Given the description of an element on the screen output the (x, y) to click on. 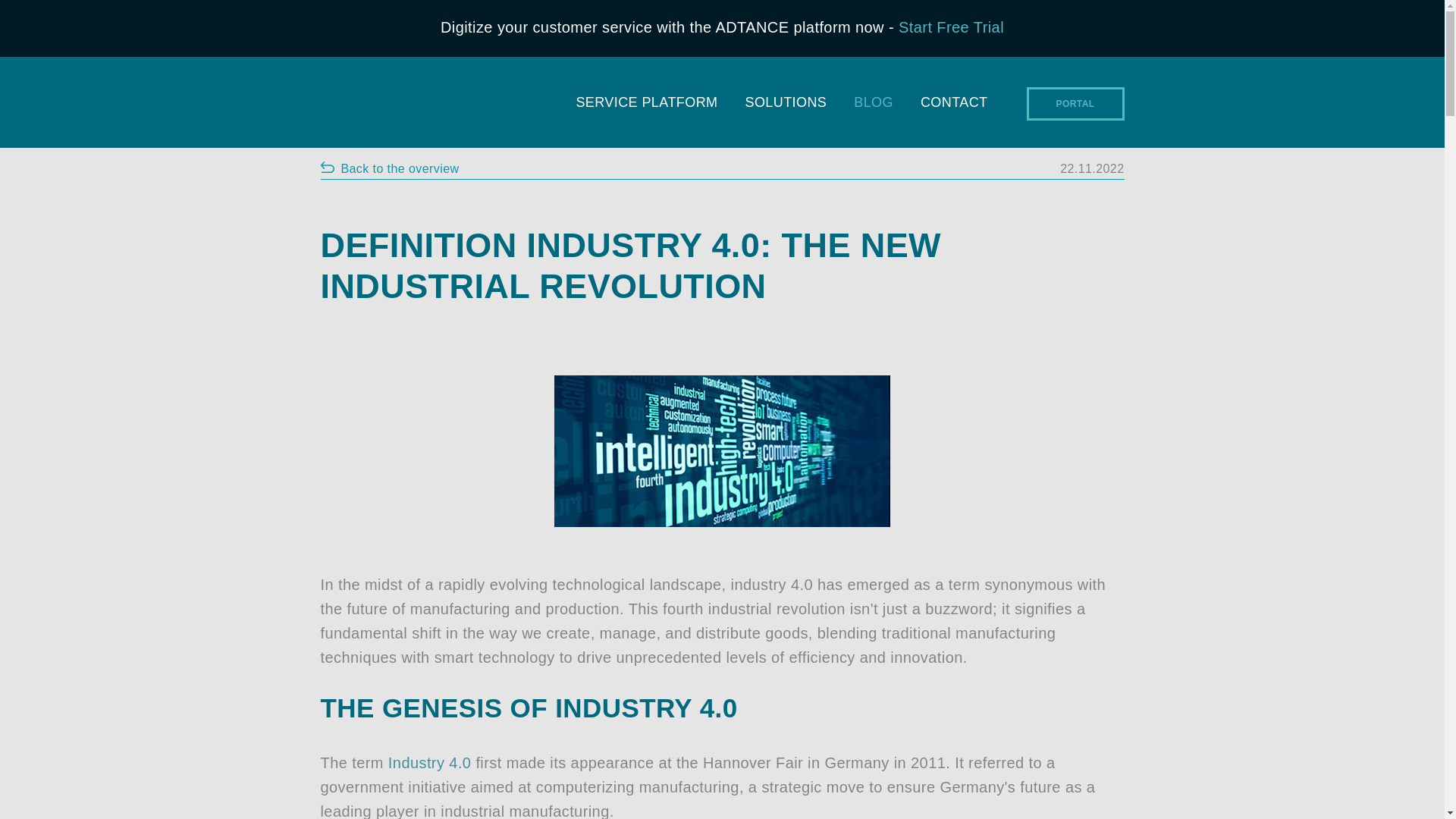
ADTANCE Logo (426, 102)
SERVICE PLATFORM (646, 106)
PORTAL (1075, 103)
Industry 4.0 (429, 762)
CONTACT (954, 106)
Industry 4.0 (721, 451)
SOLUTIONS (785, 106)
Back to the overview (389, 168)
ADTANCE Logo (426, 102)
Start Free Trial (951, 27)
